Given the description of an element on the screen output the (x, y) to click on. 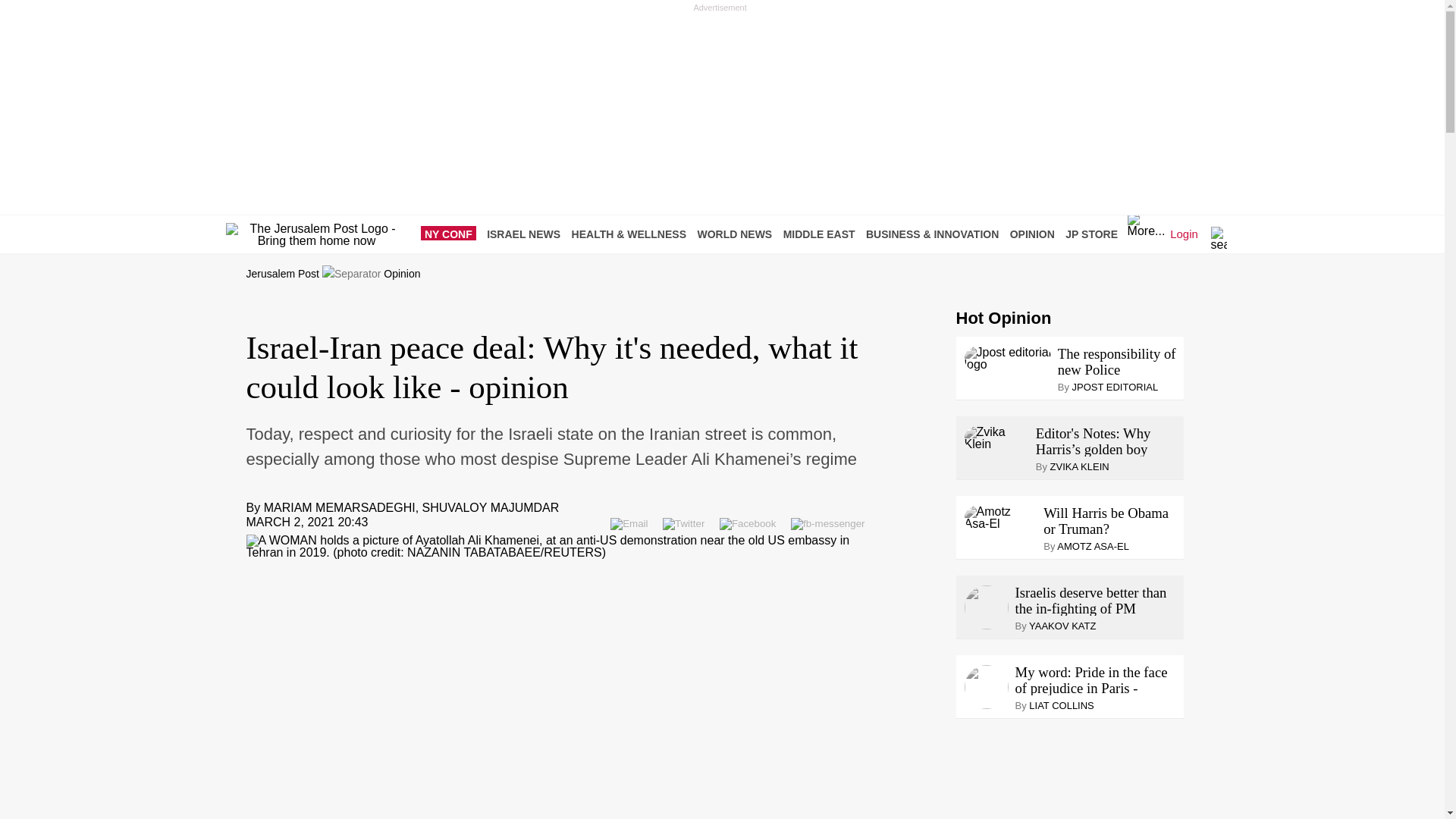
JPOST EDITORIAL (1114, 387)
Amotz Asa-El (1000, 517)
Hot Opinion (1003, 317)
 Zvika Klein (996, 437)
ZVIKA KLEIN (1079, 466)
OPINION (1036, 234)
Jpost editorial logo  (1007, 358)
